Given the description of an element on the screen output the (x, y) to click on. 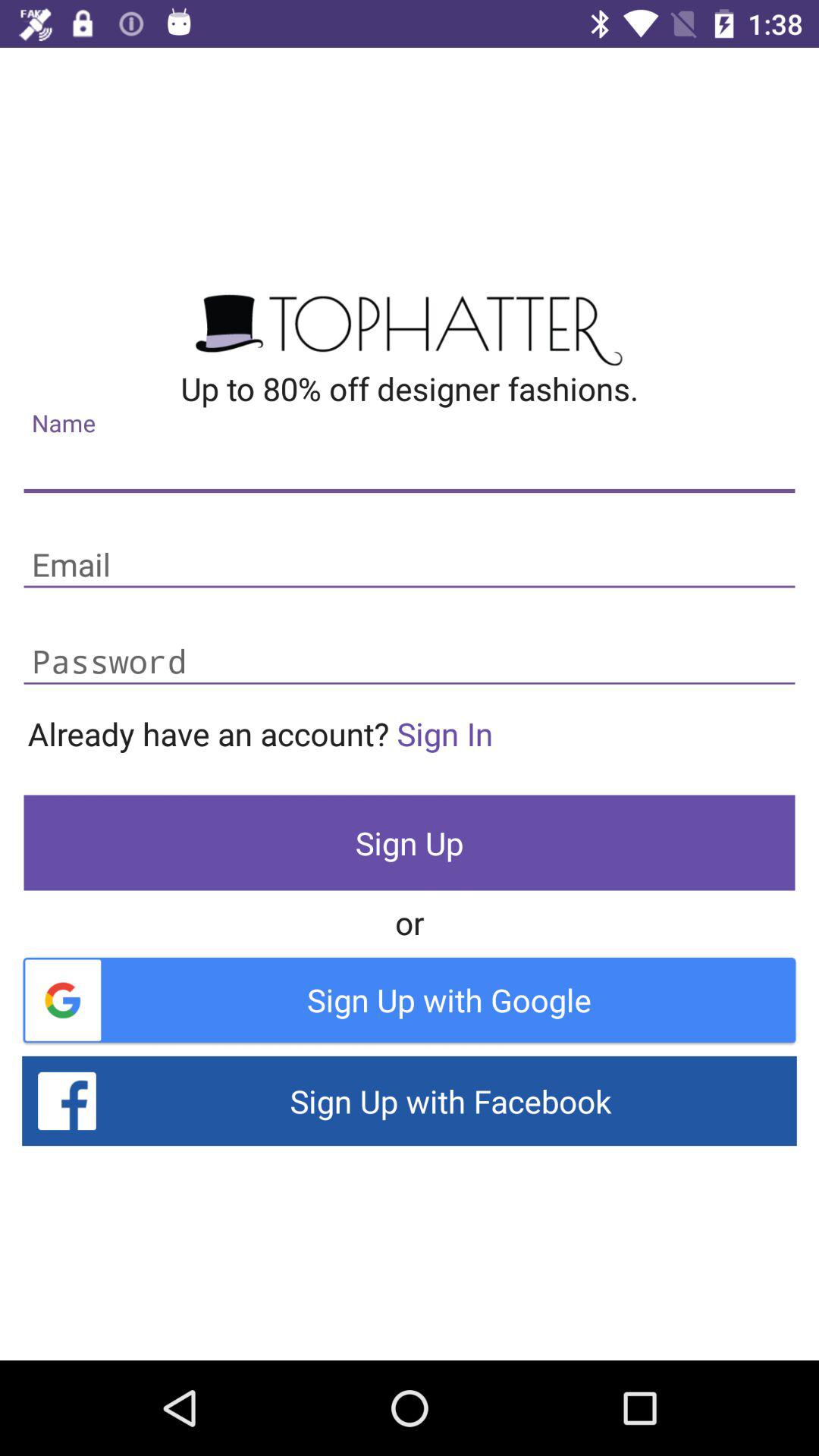
address (409, 468)
